Given the description of an element on the screen output the (x, y) to click on. 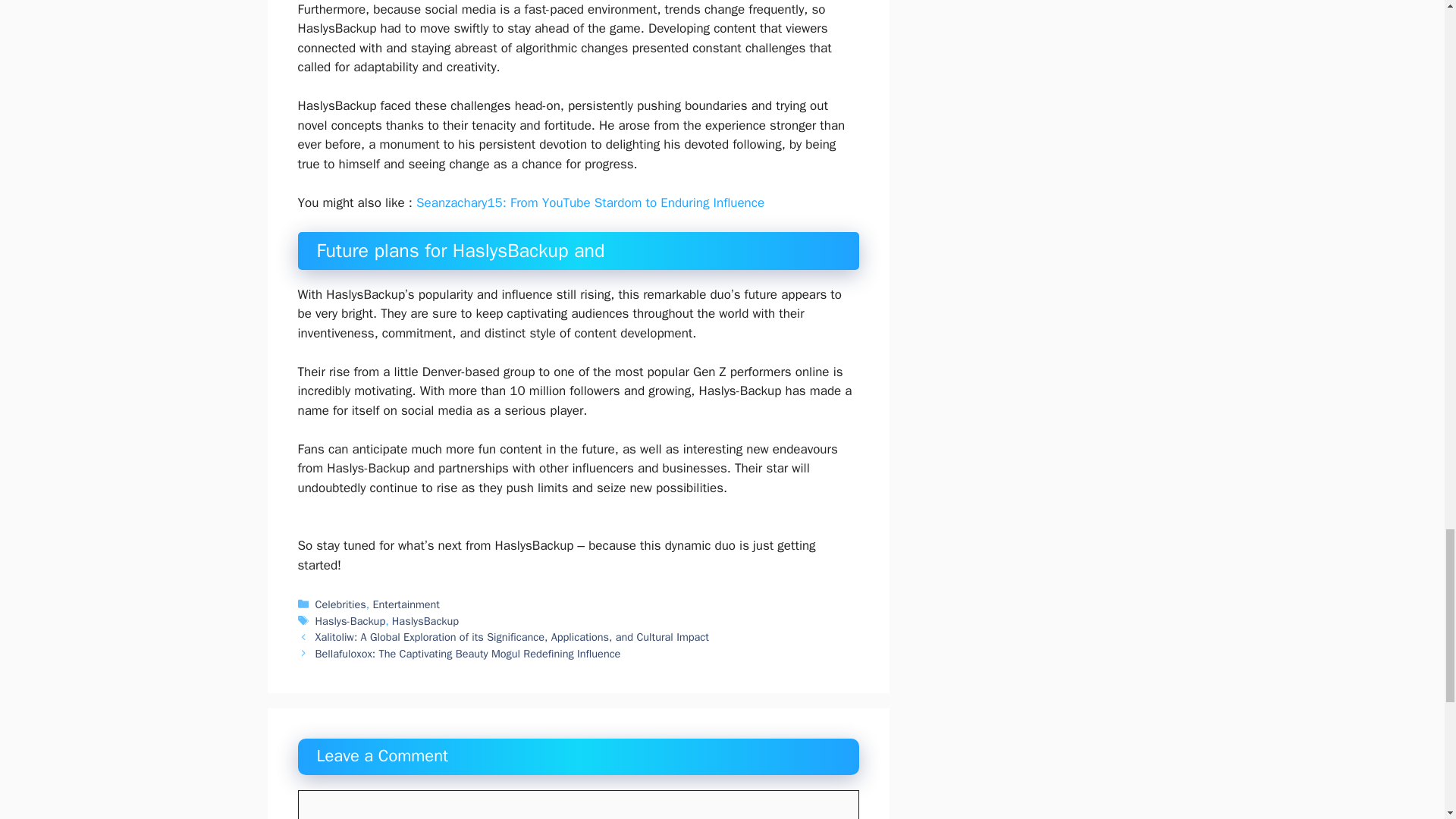
Entertainment (405, 603)
Seanzachary15: From YouTube Stardom to Enduring Influence (590, 202)
HaslysBackup (424, 621)
Celebrities (340, 603)
Haslys-Backup (350, 621)
